Given the description of an element on the screen output the (x, y) to click on. 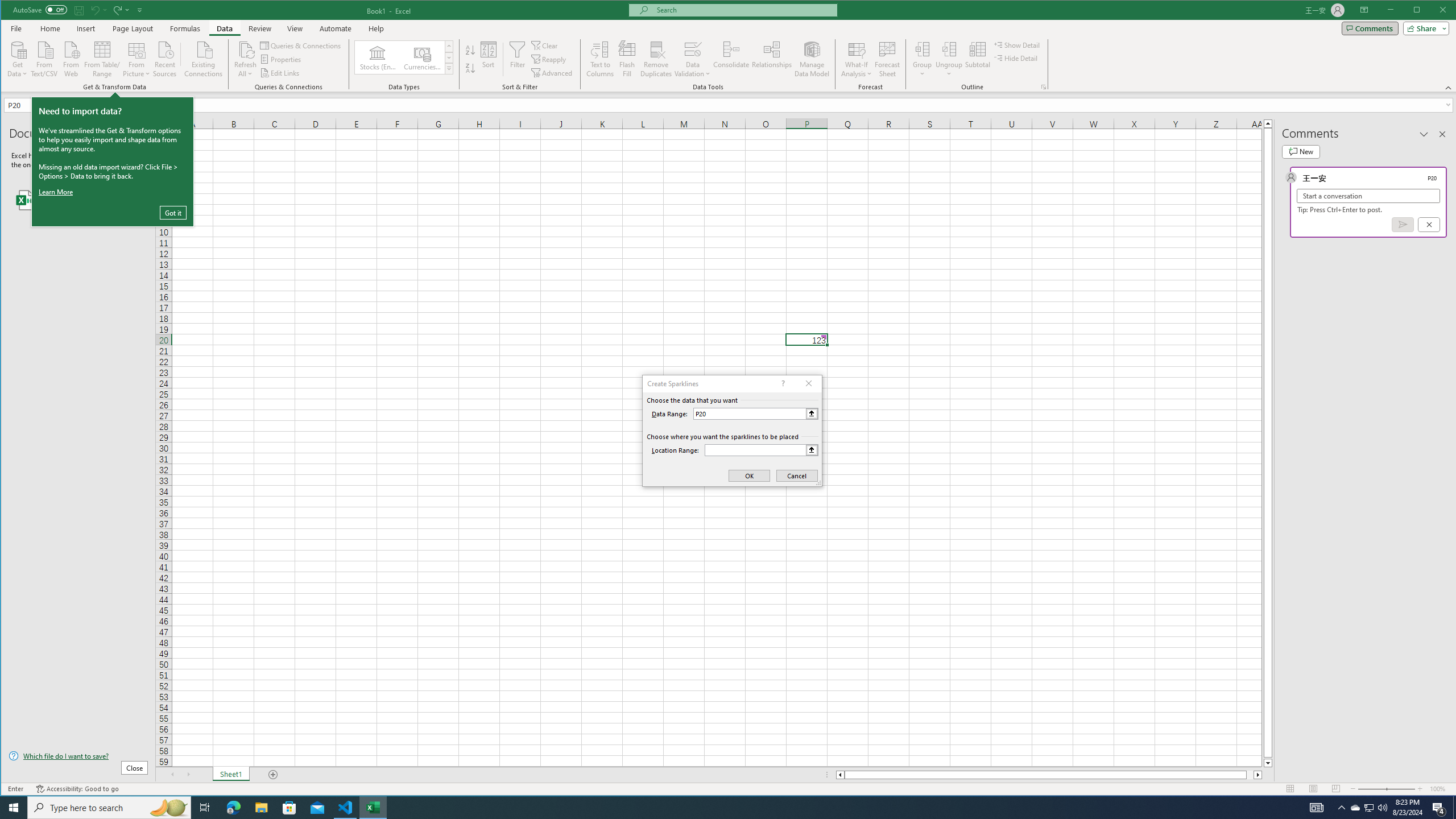
Get Data (17, 57)
Undo (94, 9)
Flash Fill (627, 59)
New comment (1300, 151)
Subtotal (977, 59)
Home (50, 28)
Text to Columns... (600, 59)
Open (56, 105)
Clear (545, 45)
Data Validation... (691, 48)
Book1 (version 1).xlsb  [AutoRecovered] (78, 199)
Normal (1290, 788)
Properties (280, 59)
Quick Access Toolbar (79, 9)
Sort... (488, 59)
